Given the description of an element on the screen output the (x, y) to click on. 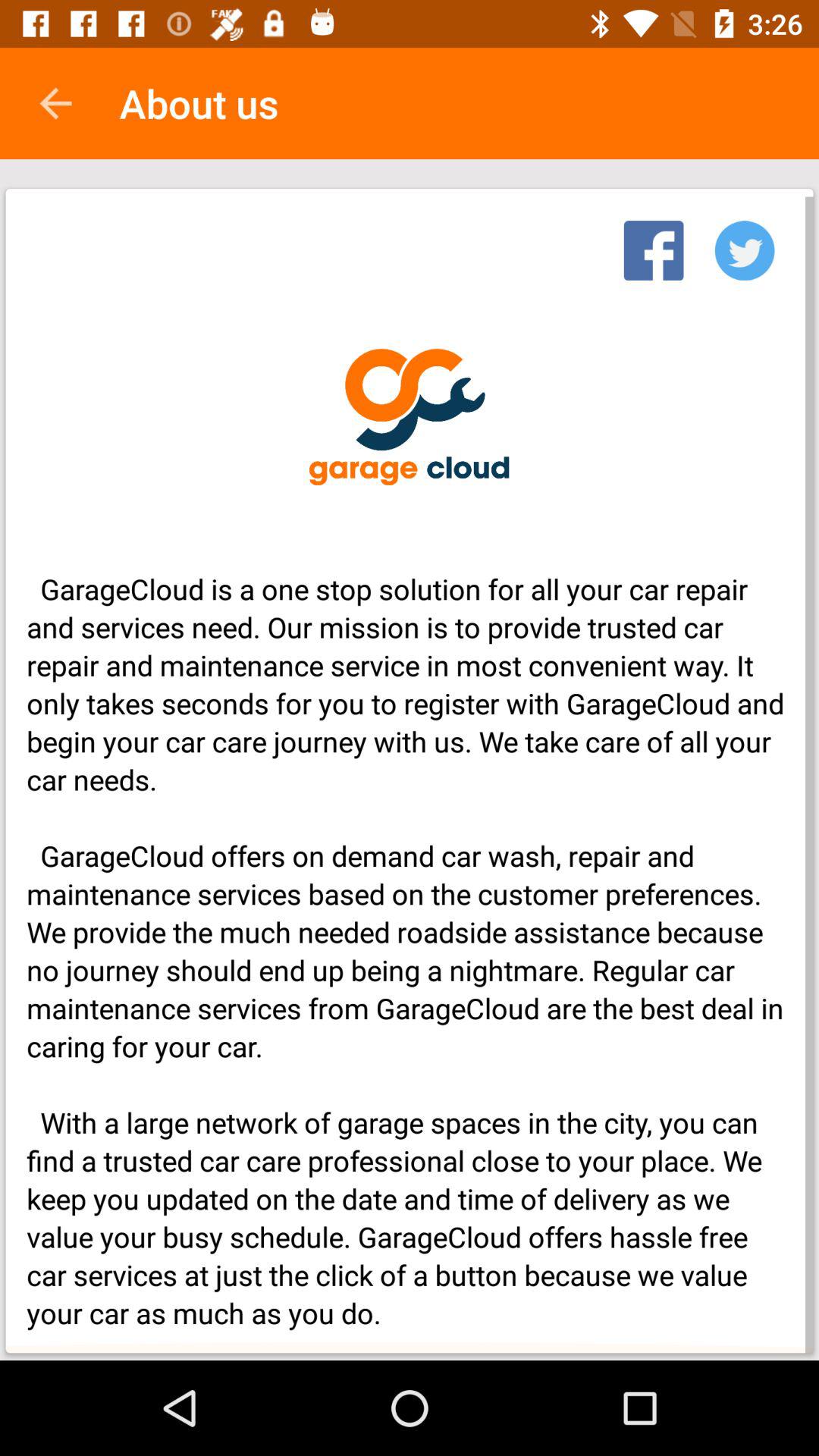
click item above garagecloud is a icon (55, 103)
